Given the description of an element on the screen output the (x, y) to click on. 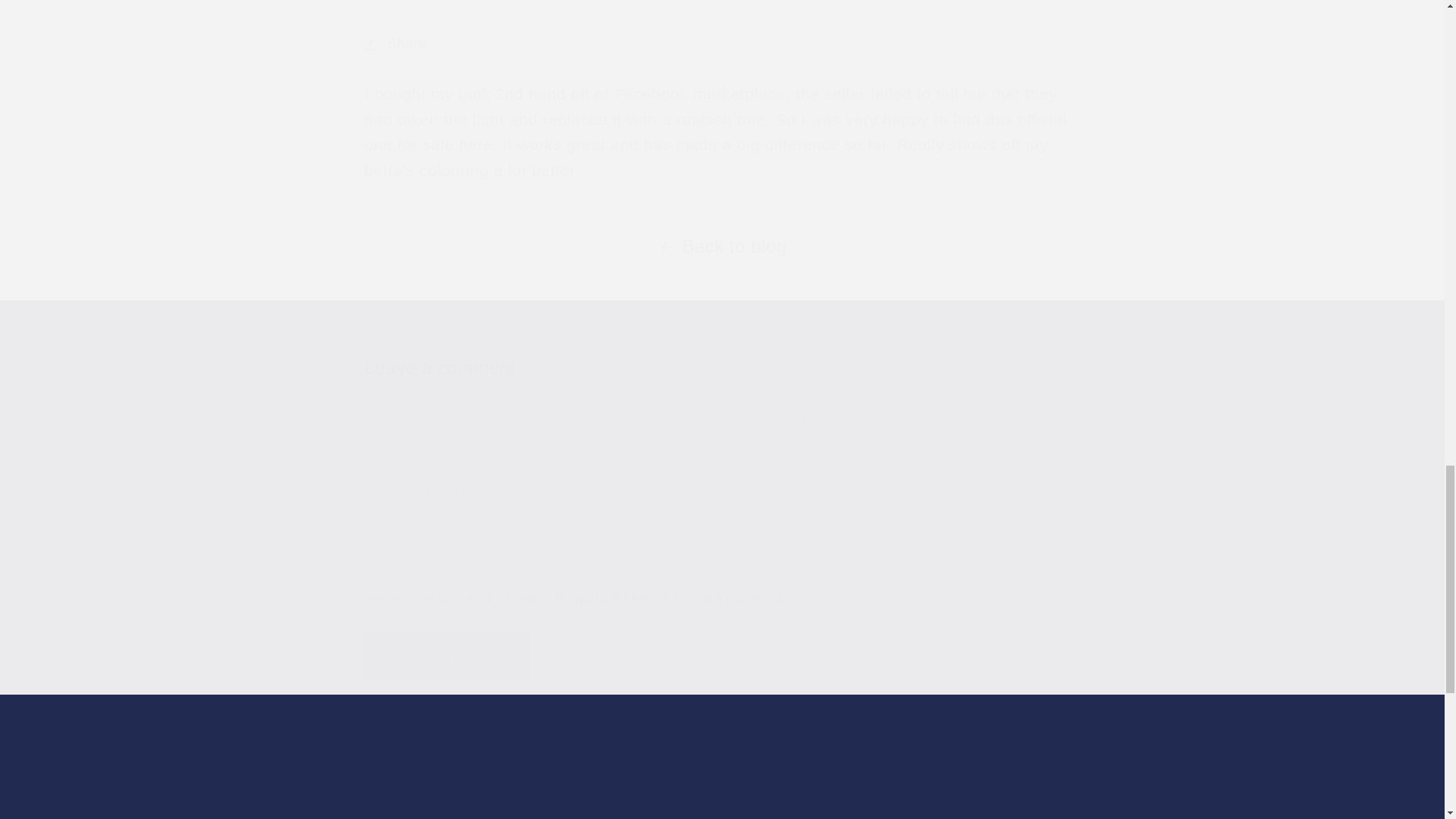
Post comment (447, 655)
Share (722, 44)
